Given the description of an element on the screen output the (x, y) to click on. 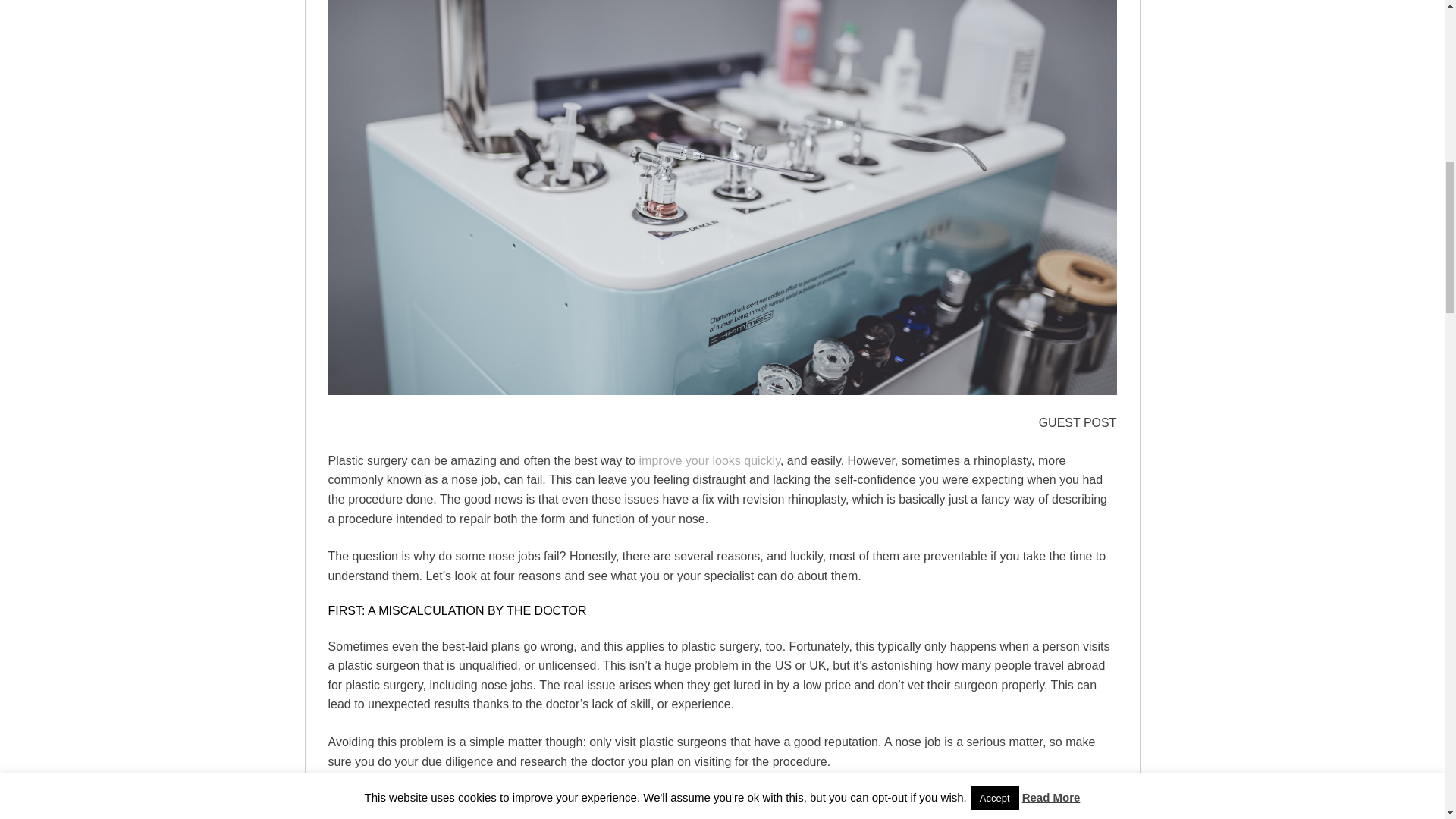
improve your looks quickly (709, 460)
